Given the description of an element on the screen output the (x, y) to click on. 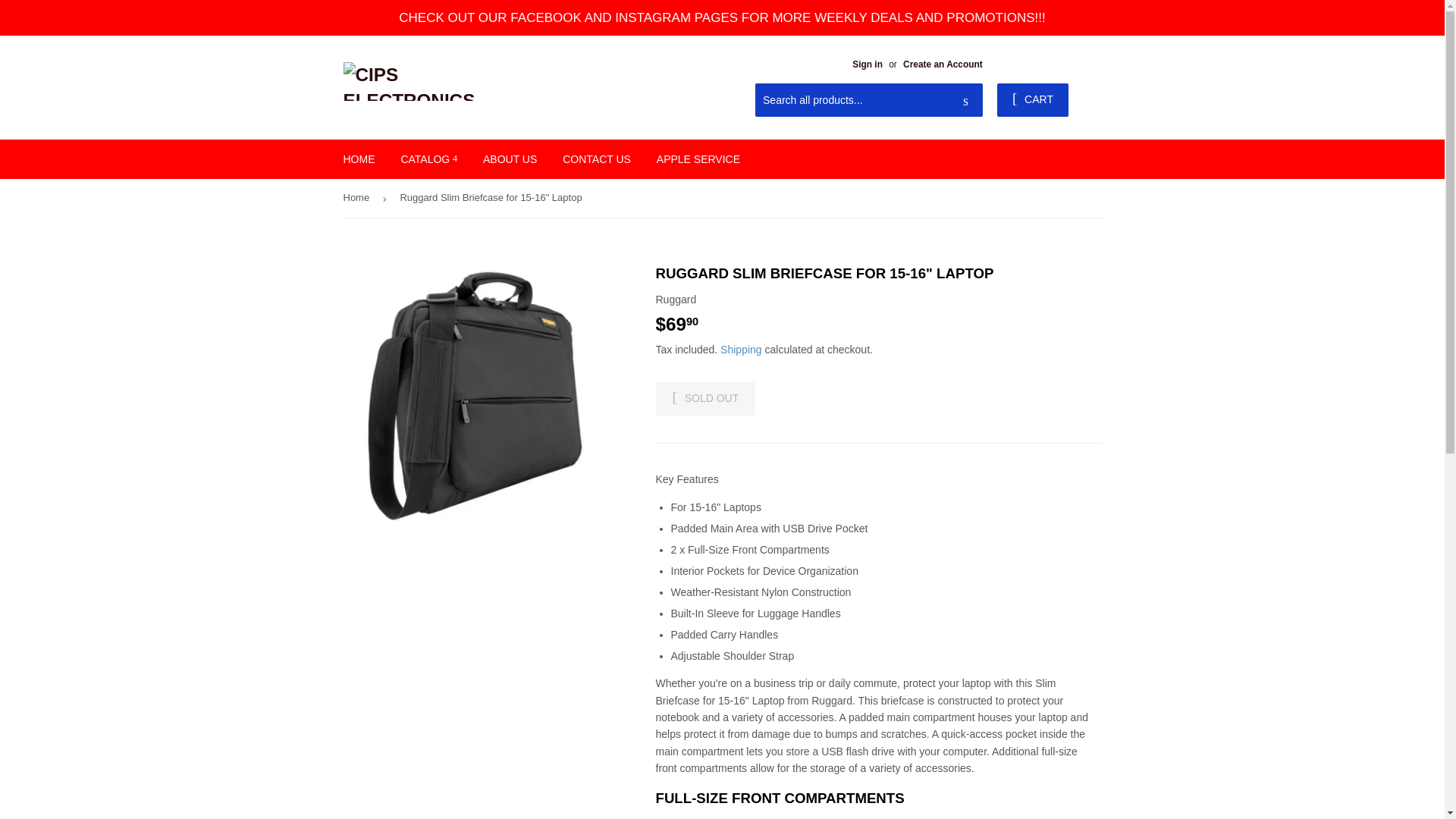
Create an Account (942, 63)
Sign in (866, 63)
CART (1032, 100)
Search (965, 101)
